Given the description of an element on the screen output the (x, y) to click on. 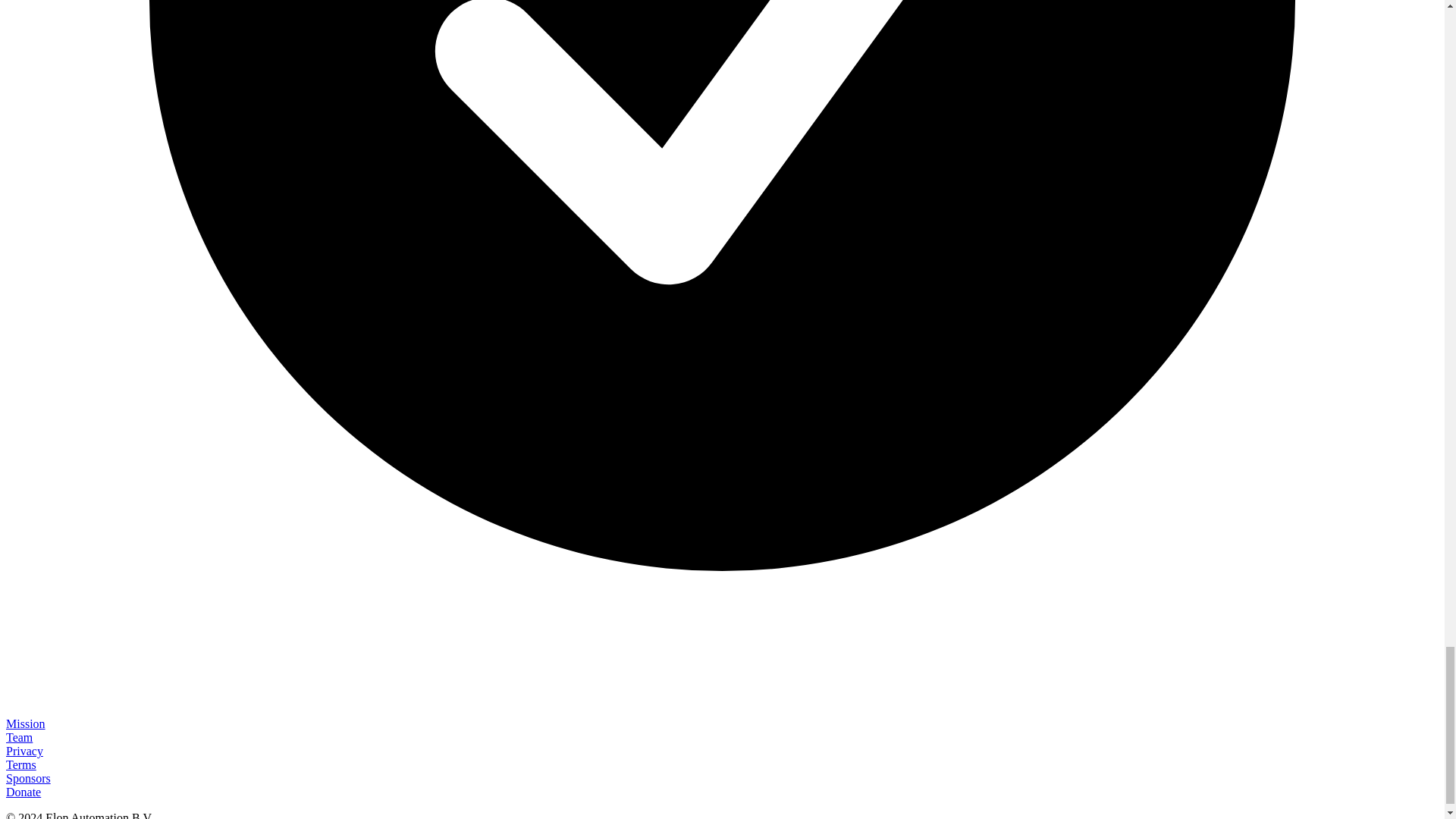
Privacy (24, 750)
Team (18, 737)
Terms (20, 764)
Mission (25, 723)
